Given the description of an element on the screen output the (x, y) to click on. 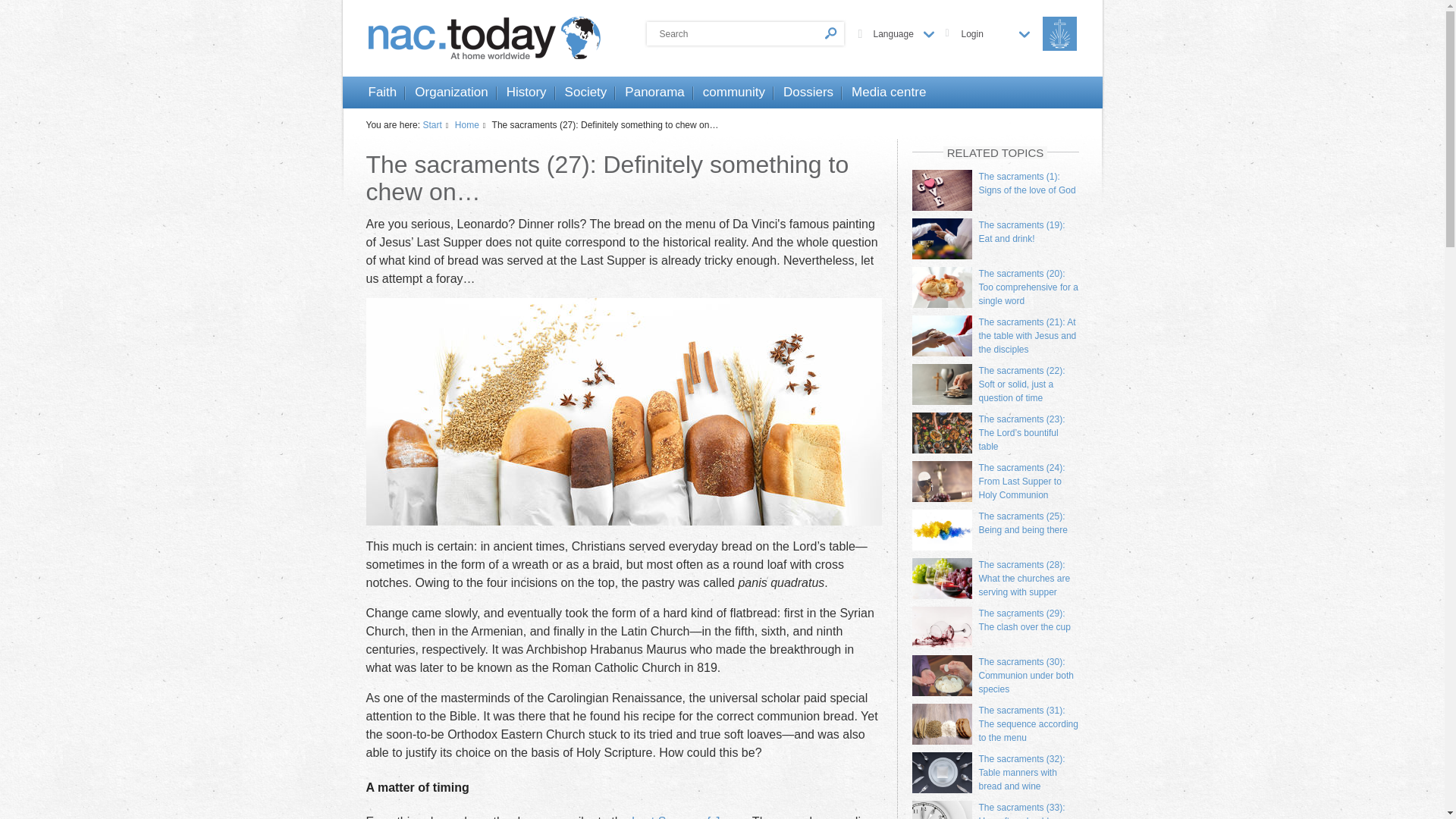
Panorama (654, 92)
Home (471, 124)
Last Supper of Jesus (688, 816)
Search (745, 33)
Society (585, 92)
Media centre (888, 92)
Dossiers (807, 92)
community (734, 92)
Search (745, 33)
Login (994, 33)
Link (688, 816)
Organization (450, 92)
History (526, 92)
Start (436, 124)
Language (903, 33)
